Given the description of an element on the screen output the (x, y) to click on. 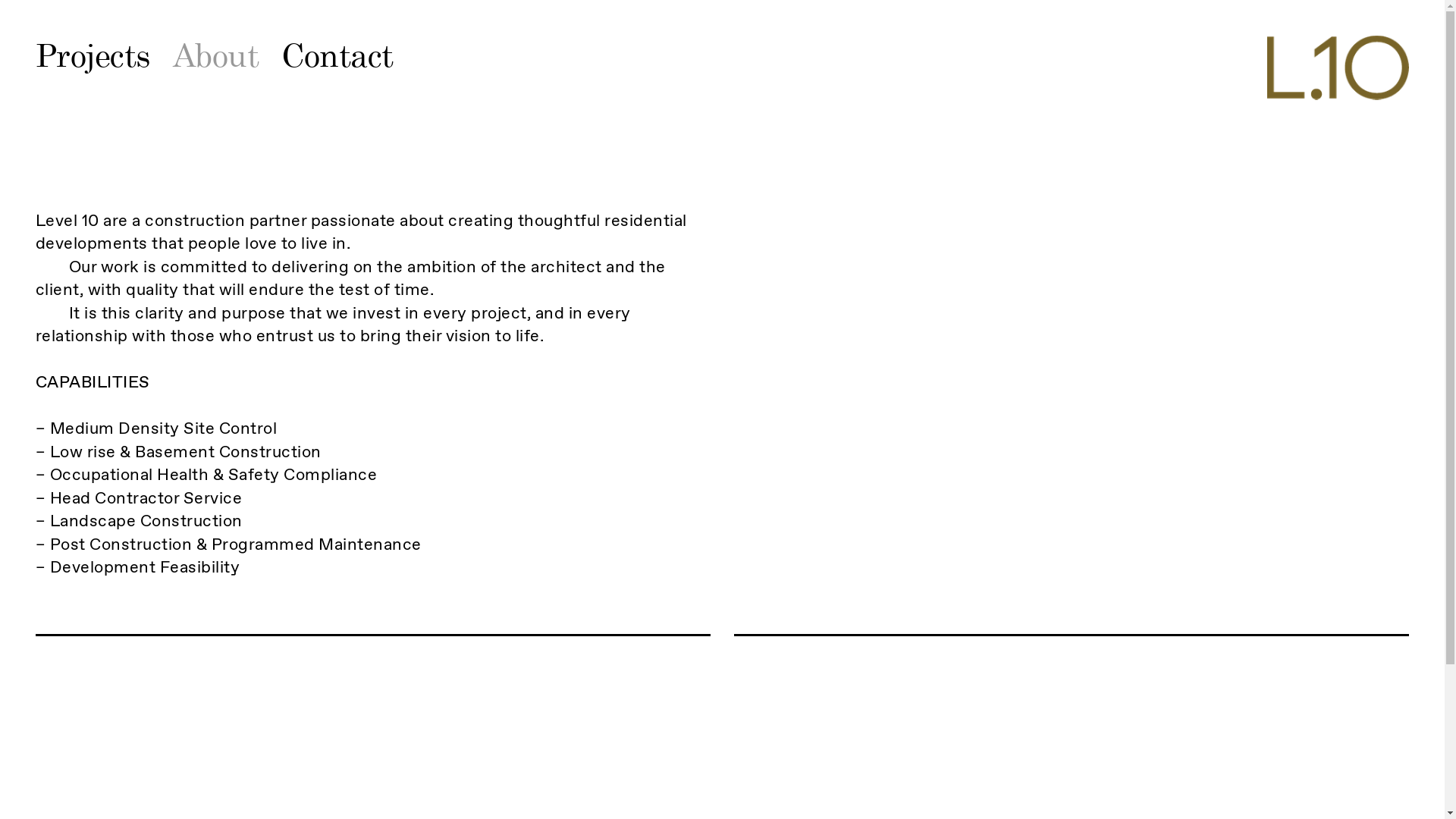
Projects Element type: text (103, 56)
Contact Element type: text (348, 56)
About Element type: text (227, 56)
